Given the description of an element on the screen output the (x, y) to click on. 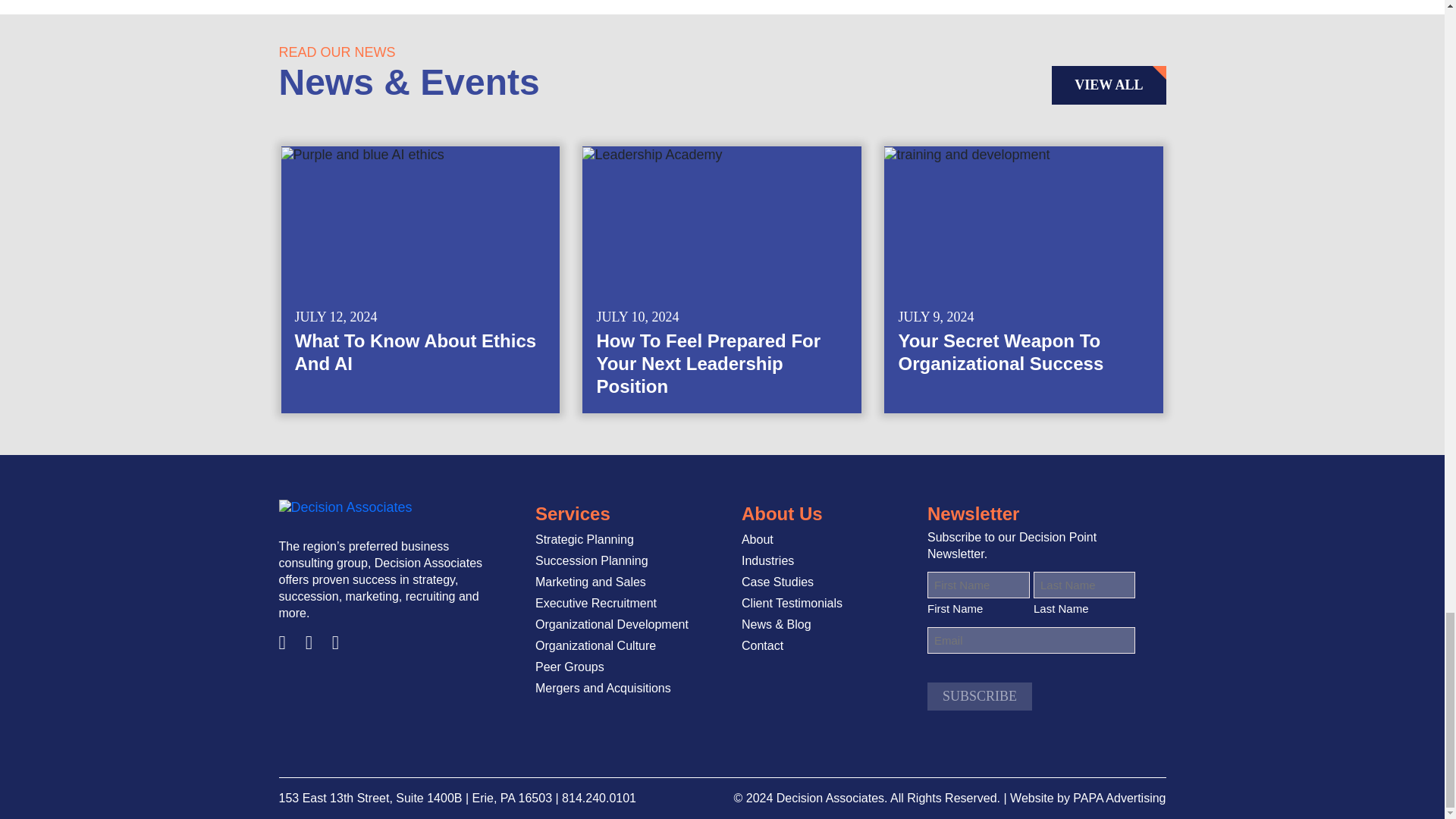
Your Secret Weapon to Organizational Success (1023, 279)
What To Know About Ethics and AI (420, 279)
VIEW ALL (1108, 85)
SUBSCRIBE (979, 696)
How To Feel Prepared For Your Next Leadership Position (721, 279)
